Given the description of an element on the screen output the (x, y) to click on. 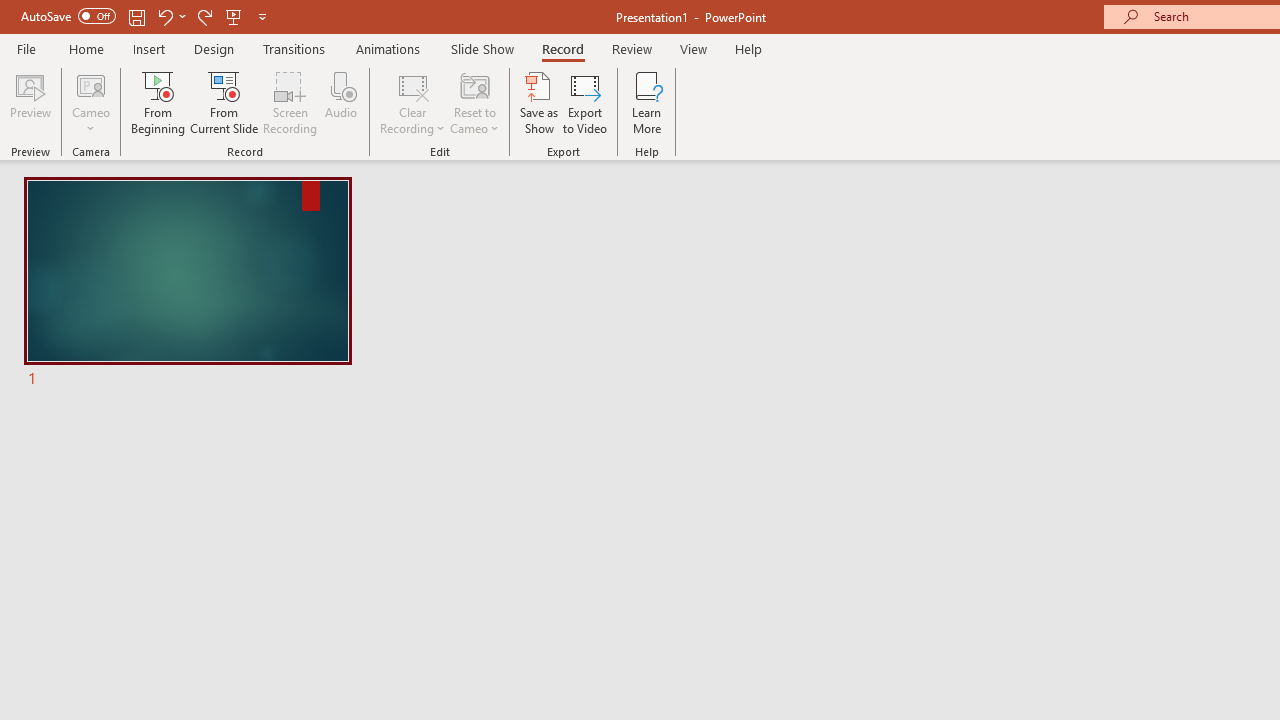
From Current Slide... (224, 102)
From Beginning... (158, 102)
Audio (341, 102)
Screen Recording (290, 102)
Export to Video (585, 102)
Clear Recording (412, 102)
